Given the description of an element on the screen output the (x, y) to click on. 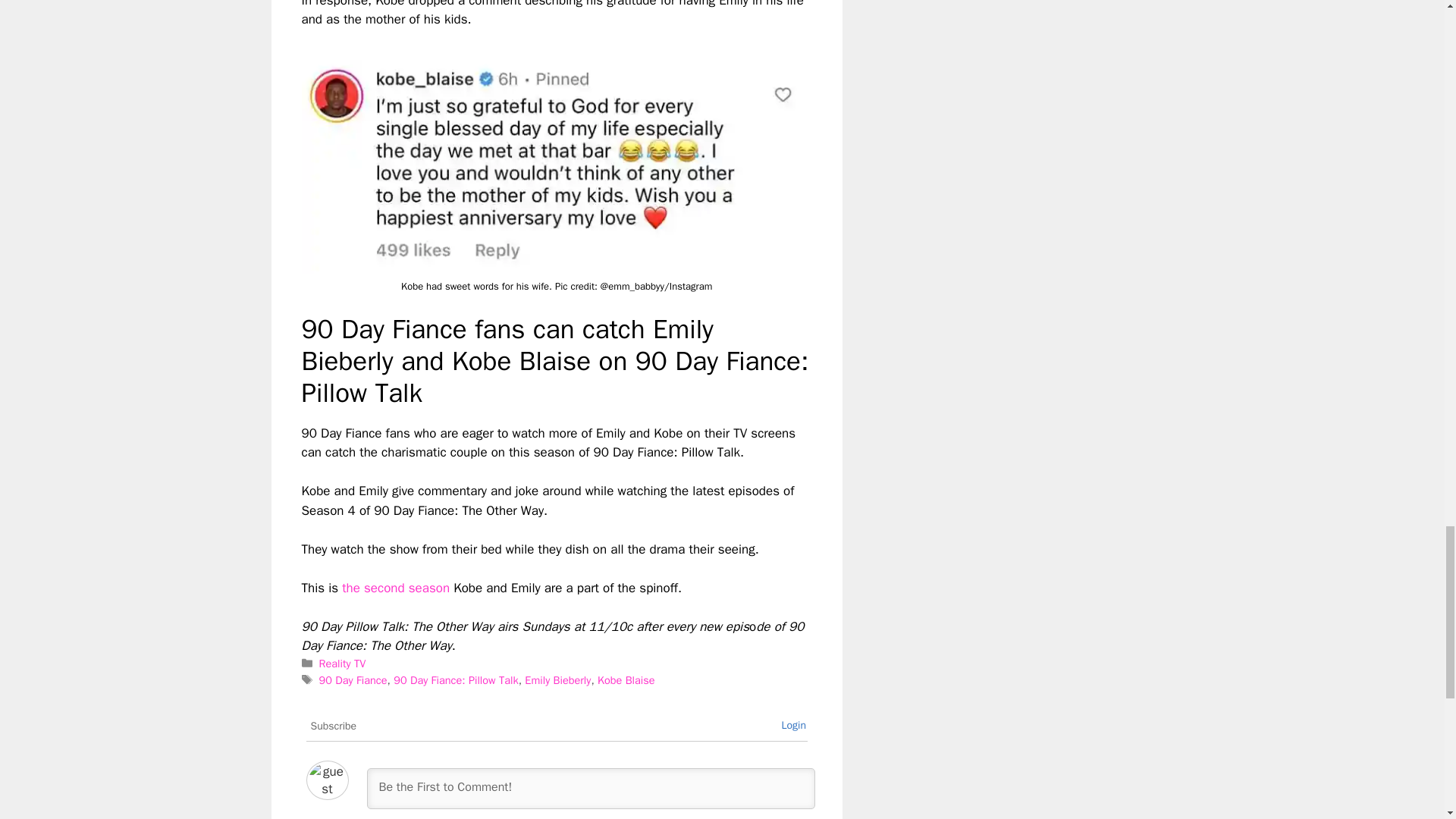
Emily Bieberly (557, 680)
Kobe Blaise (625, 680)
Login (793, 725)
90 Day Fiance: Pillow Talk (455, 680)
the second season (393, 587)
Reality TV (342, 663)
90 Day Fiance (352, 680)
